Given the description of an element on the screen output the (x, y) to click on. 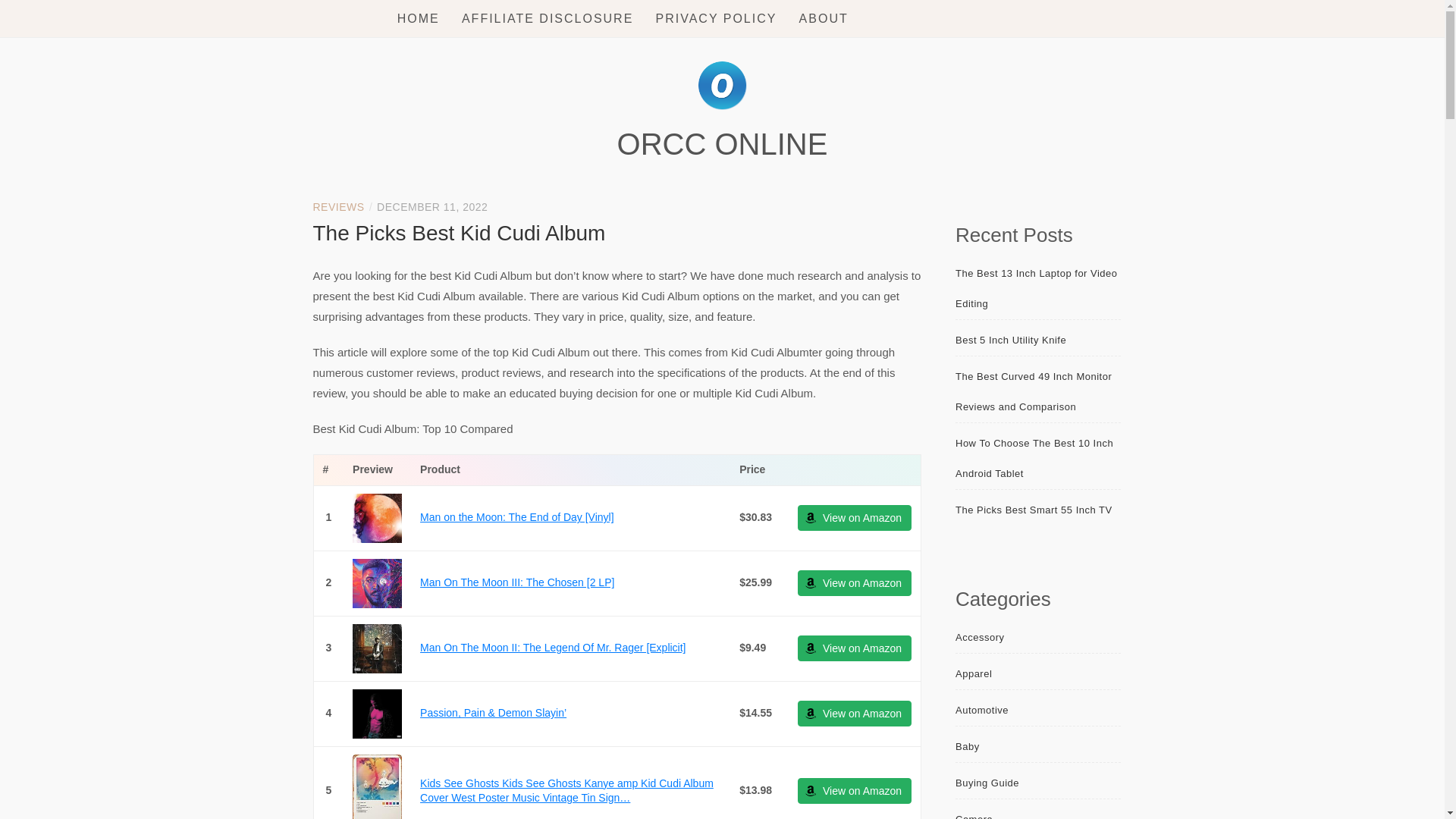
View on Amazon (854, 647)
View on Amazon (854, 713)
View on Amazon (854, 583)
View on Amazon (854, 583)
REVIEWS (338, 206)
View on Amazon (854, 790)
View on Amazon (854, 517)
ABOUT (823, 18)
View on Amazon (854, 713)
